Given the description of an element on the screen output the (x, y) to click on. 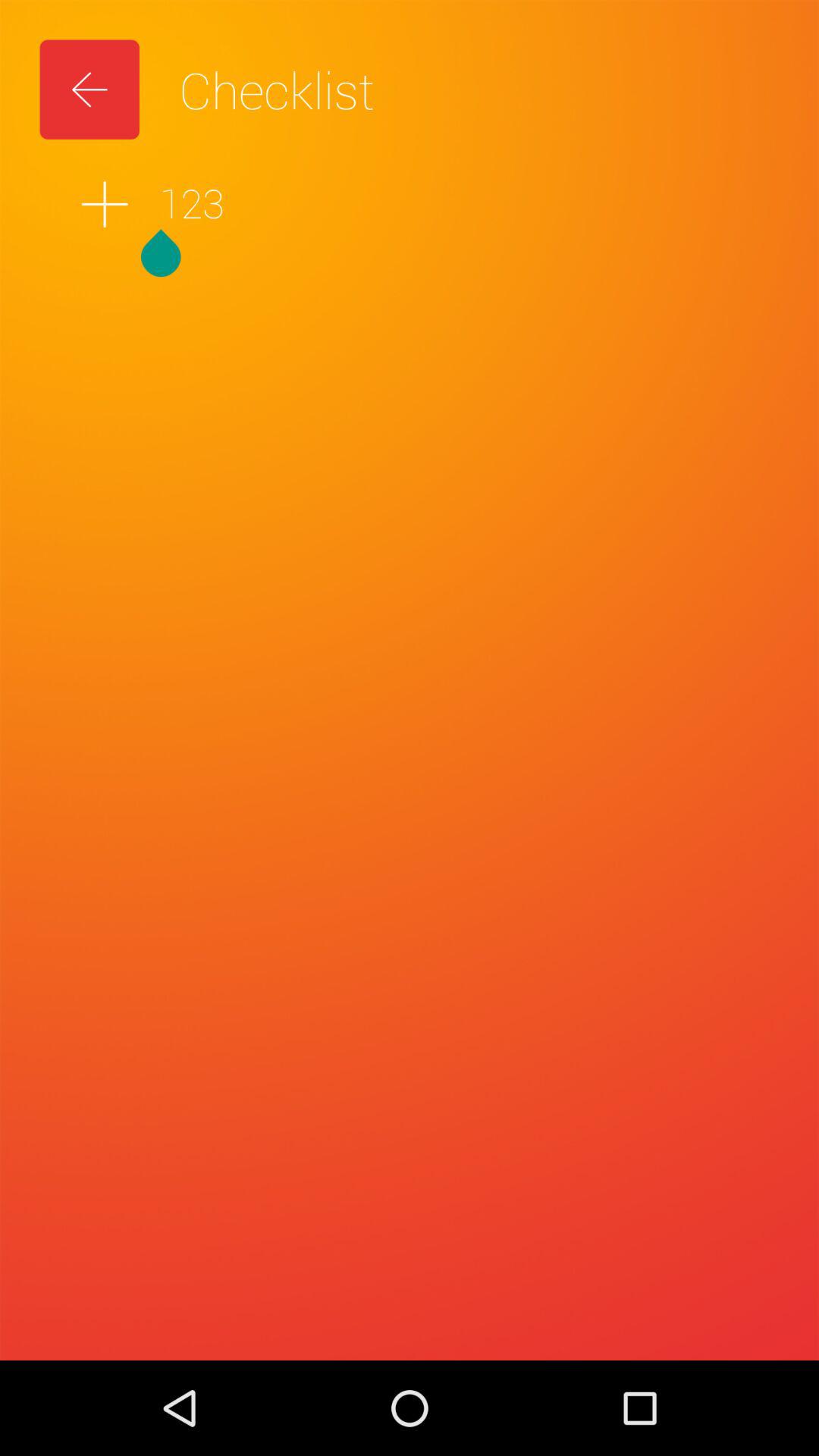
flip to the 123 (409, 204)
